Given the description of an element on the screen output the (x, y) to click on. 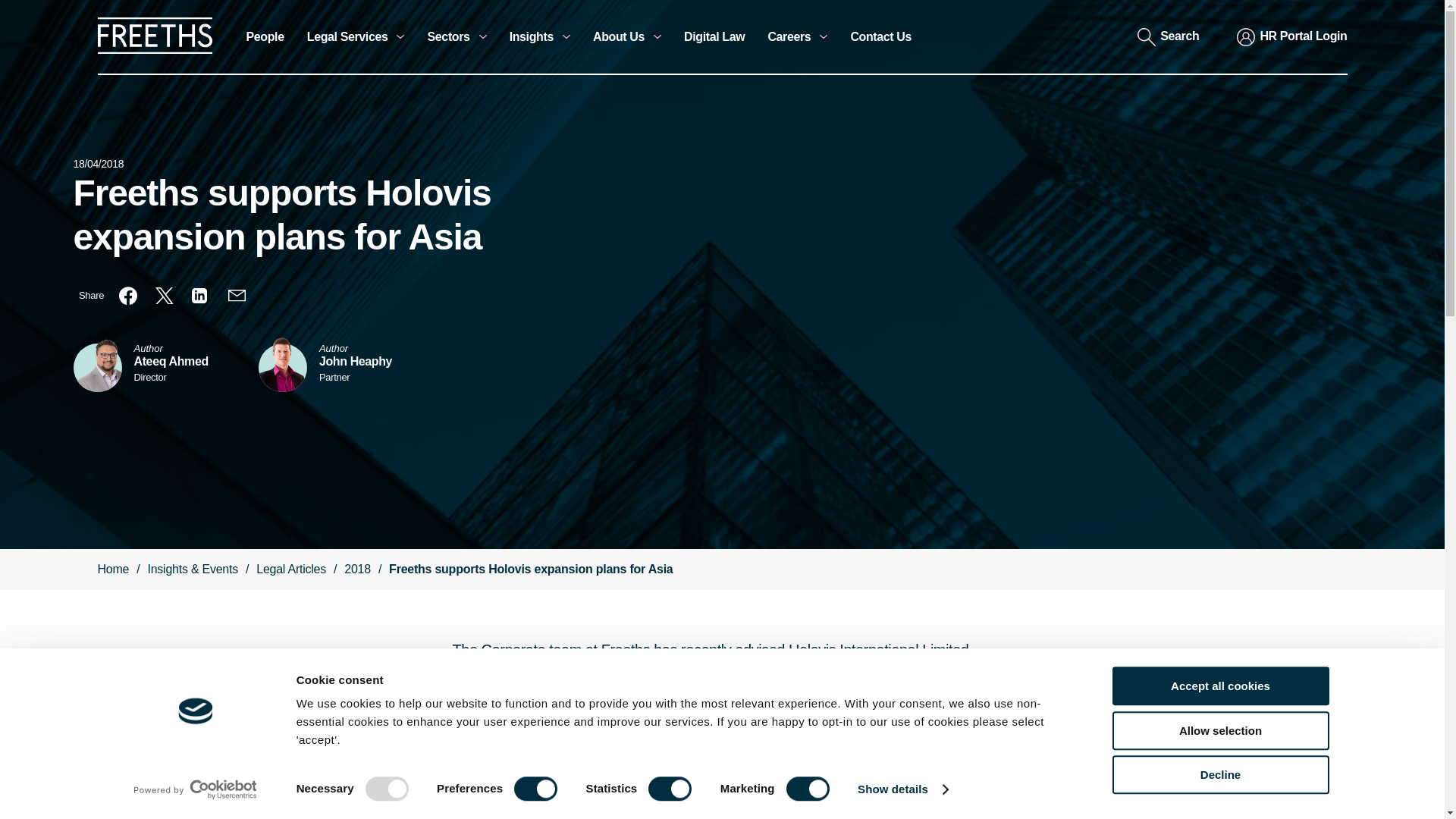
Go to homepage (154, 49)
Accept all cookies (1219, 685)
Allow selection (1219, 730)
Share via LinkedIn (200, 295)
Share via X (163, 295)
Share via Facebook (127, 295)
Share via email (236, 295)
Decline (1219, 774)
Show details (902, 789)
Share (90, 295)
